Given the description of an element on the screen output the (x, y) to click on. 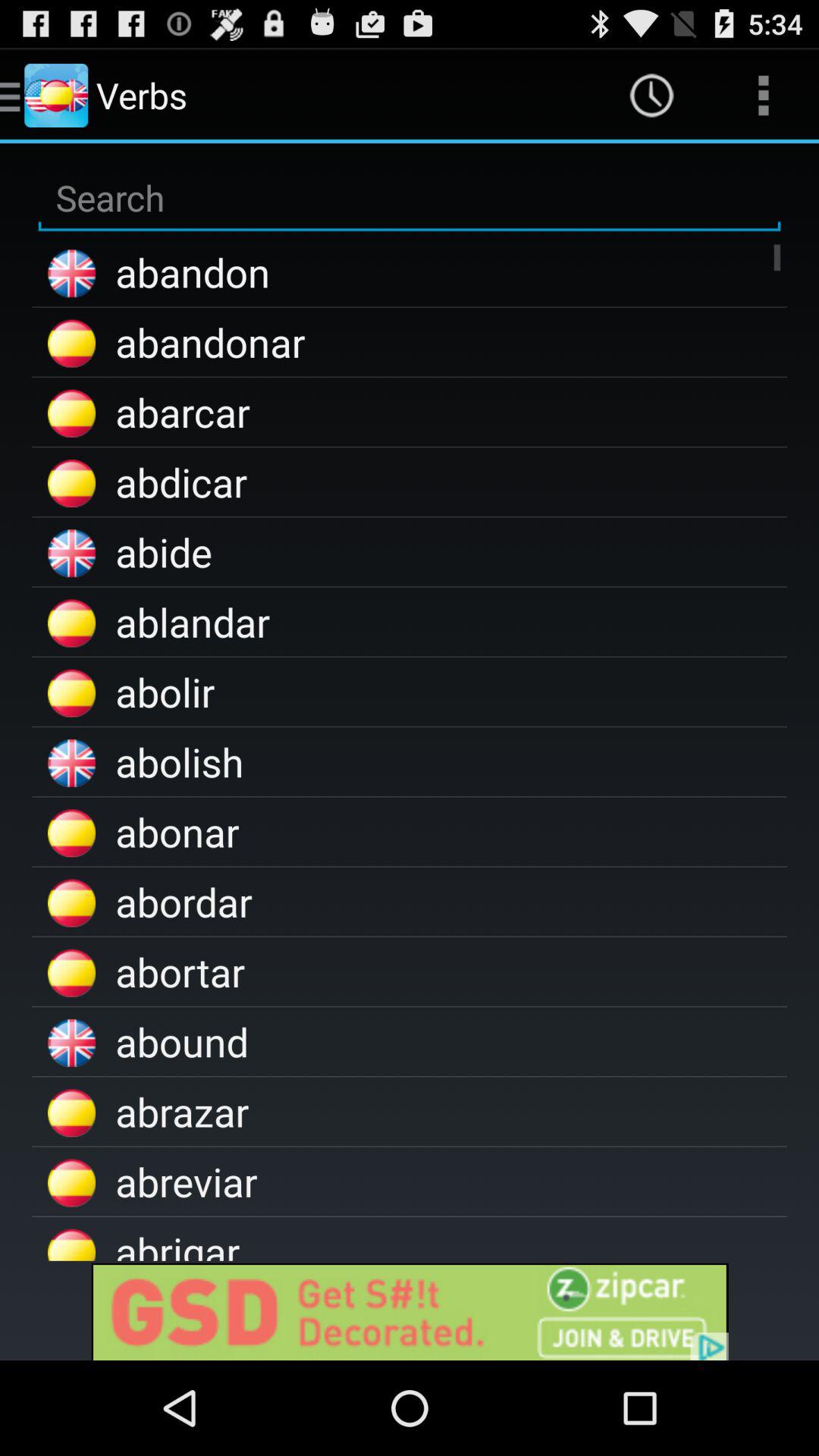
advertisement (409, 1310)
